Given the description of an element on the screen output the (x, y) to click on. 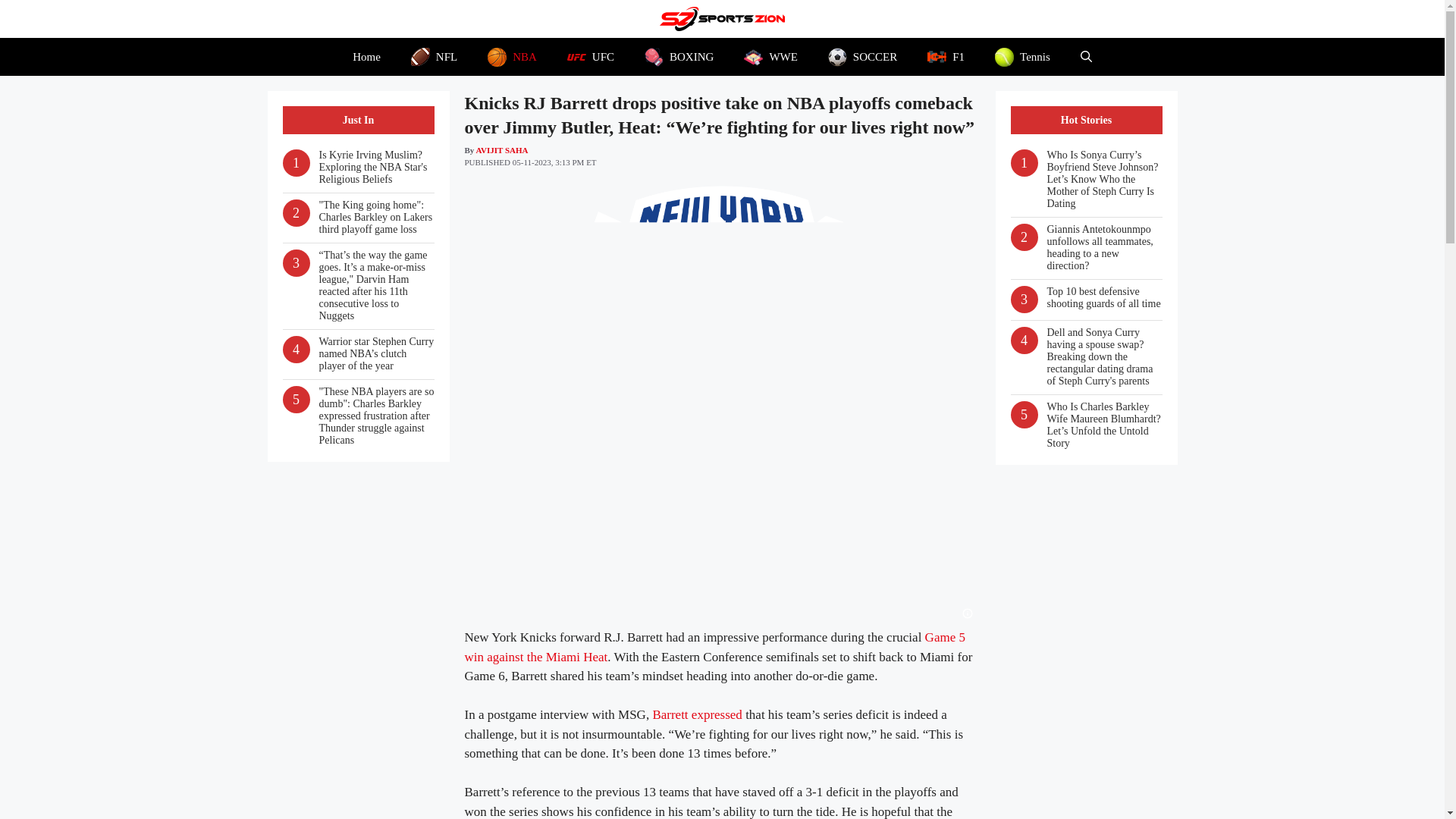
F1 (945, 56)
NFL (433, 56)
View all posts by Avijit Saha (501, 149)
BOXING (678, 56)
Home (366, 56)
UFC (589, 56)
NBA (511, 56)
Barrett expressed (696, 714)
